Given the description of an element on the screen output the (x, y) to click on. 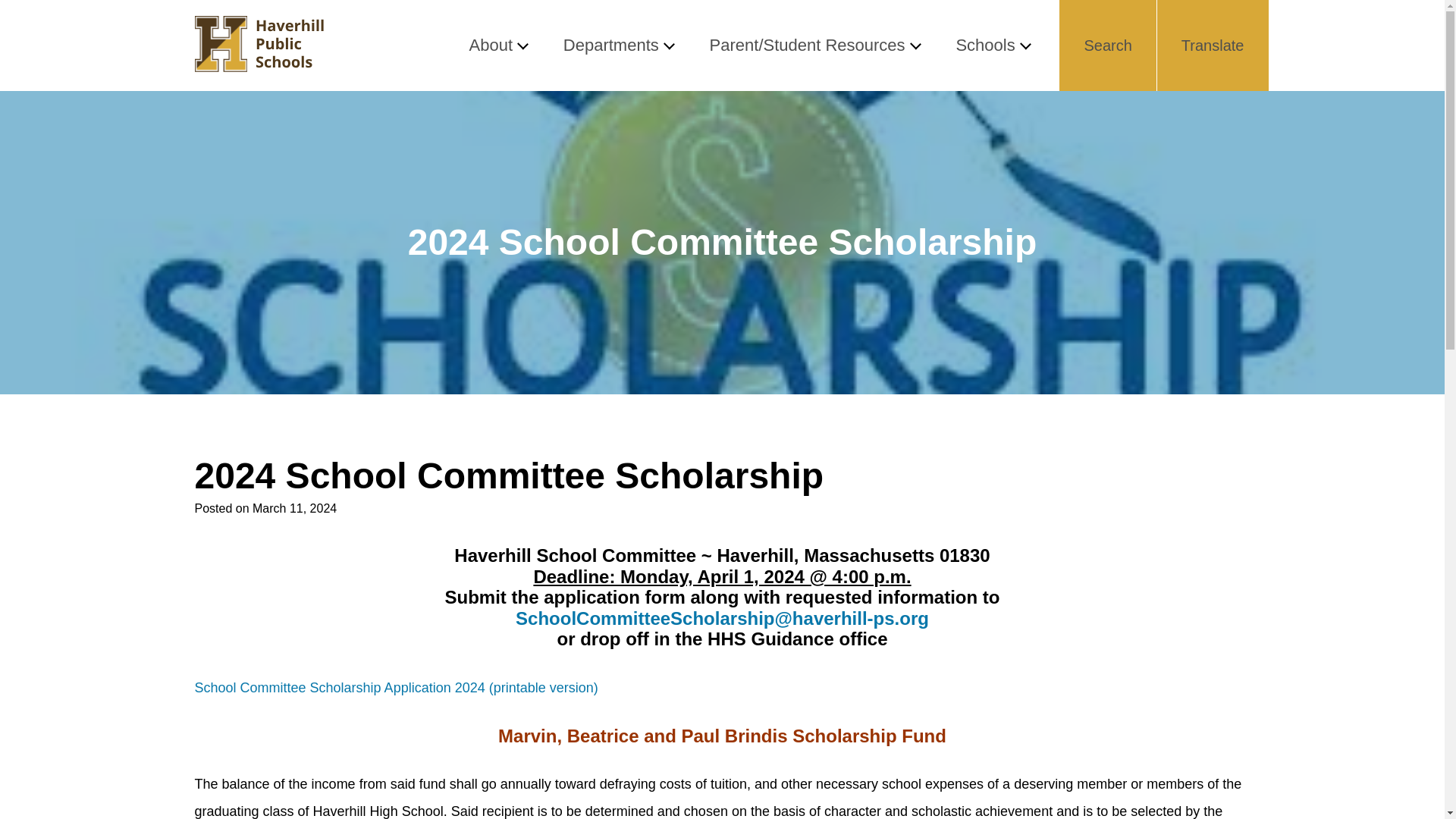
Departments (617, 45)
About (497, 45)
